Given the description of an element on the screen output the (x, y) to click on. 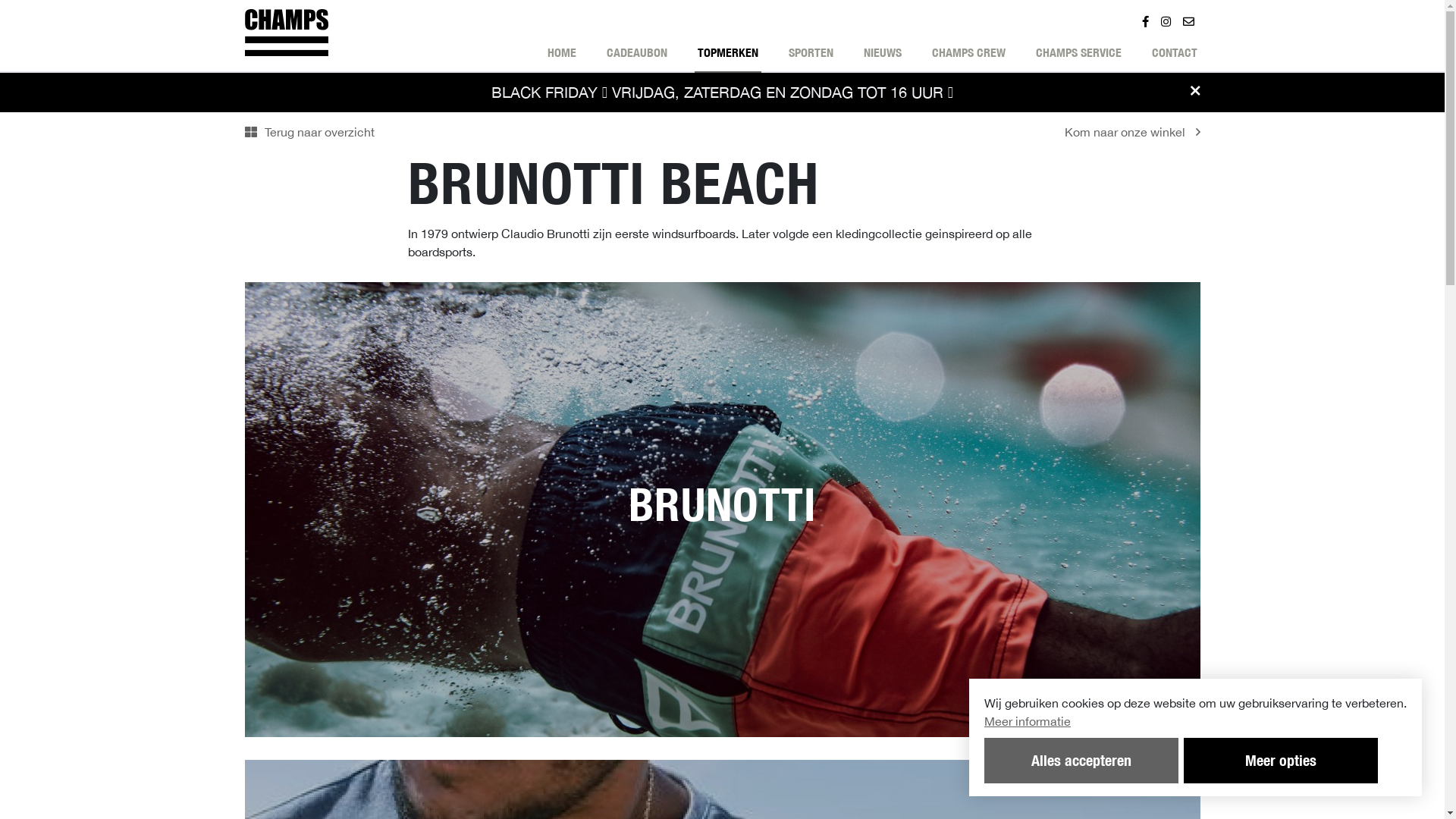
BRUNOTTI Element type: text (721, 509)
CHAMPS SERVICE Element type: text (1078, 56)
Kom naar onze winkel Element type: text (1132, 131)
HOME Element type: text (561, 56)
TOPMERKEN Element type: text (727, 56)
Nieuwsbrief Element type: text (1188, 24)
Meer informatie Element type: text (1195, 721)
Champs Sport Element type: text (285, 32)
Alles accepteren Element type: text (1081, 760)
SPORTEN Element type: text (810, 56)
NIEUWS Element type: text (881, 56)
CHAMPS CREW Element type: text (967, 56)
CONTACT Element type: text (1173, 56)
Instagram Element type: text (1165, 24)
Facebook Element type: text (1144, 24)
Meer opties Element type: text (1280, 760)
CADEAUBON Element type: text (636, 56)
Terug naar overzicht Element type: text (308, 131)
